Given the description of an element on the screen output the (x, y) to click on. 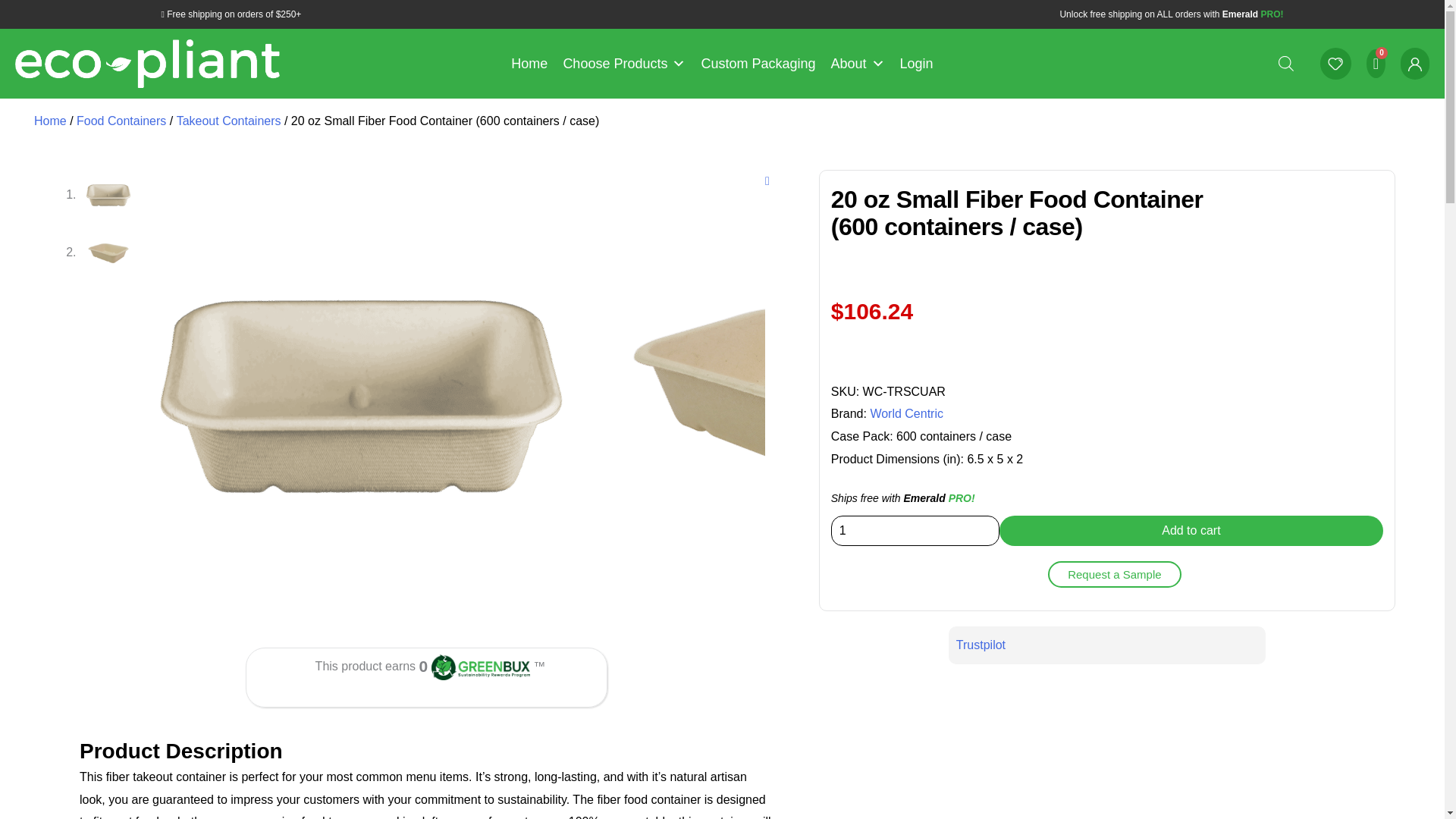
1 (914, 530)
Home (528, 63)
Choose Products (623, 63)
Emerald PRO! (1253, 14)
